Given the description of an element on the screen output the (x, y) to click on. 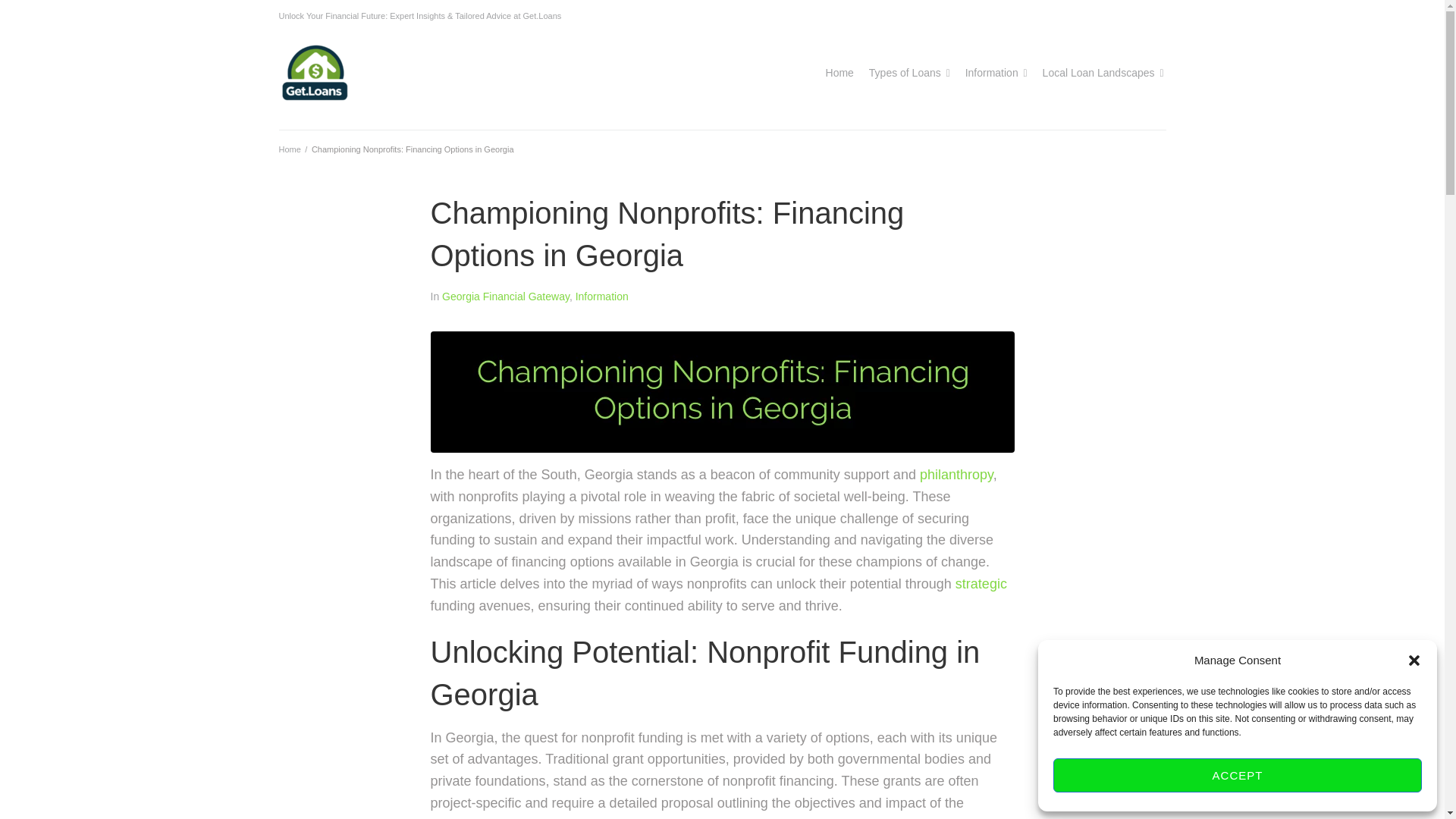
Home (290, 148)
Local Loan Landscapes (1098, 73)
Information (991, 73)
Posts tagged with strategic (981, 583)
Types of Loans (904, 73)
ACCEPT (1237, 775)
Home (839, 73)
Posts tagged with philanthropy (956, 474)
